Given the description of an element on the screen output the (x, y) to click on. 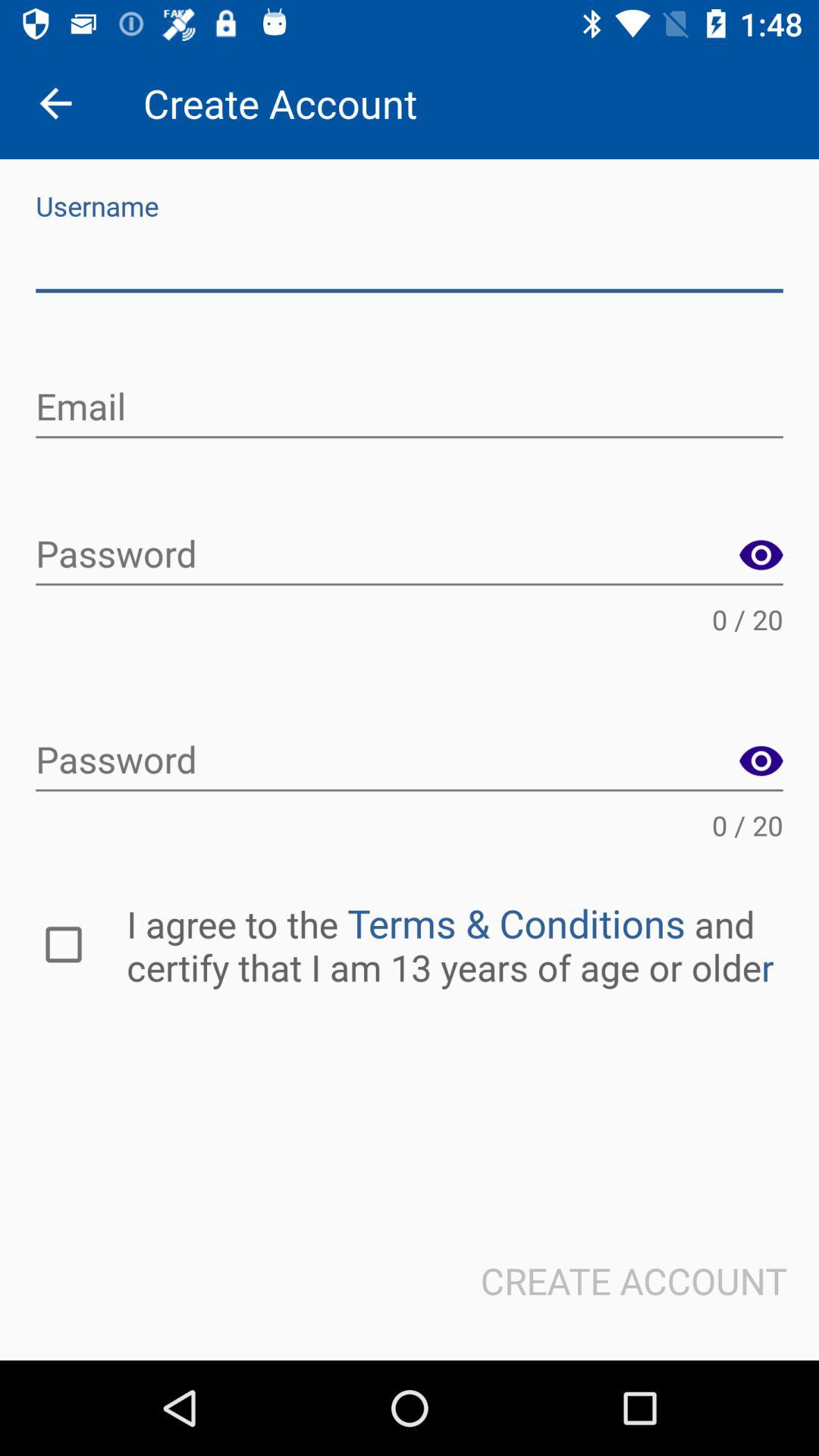
show text (761, 555)
